Given the description of an element on the screen output the (x, y) to click on. 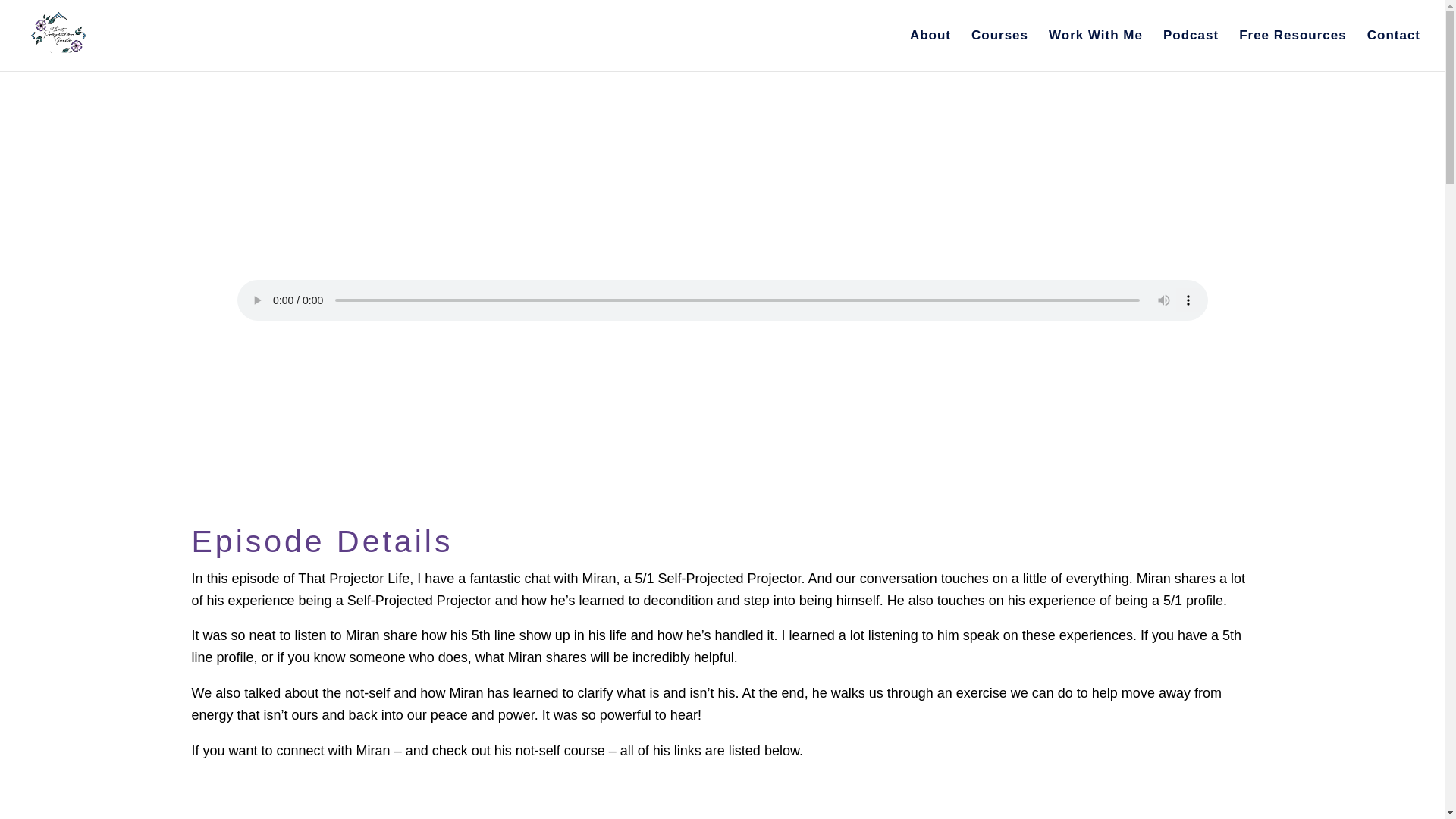
About (930, 50)
Work With Me (1095, 50)
Projector Life (865, 201)
Contact (1394, 50)
Human Design (771, 201)
Podcast (1190, 50)
Courses (999, 50)
Ardelia Lee (591, 201)
Posts by Ardelia Lee (591, 201)
Free Resources (1292, 50)
